Given the description of an element on the screen output the (x, y) to click on. 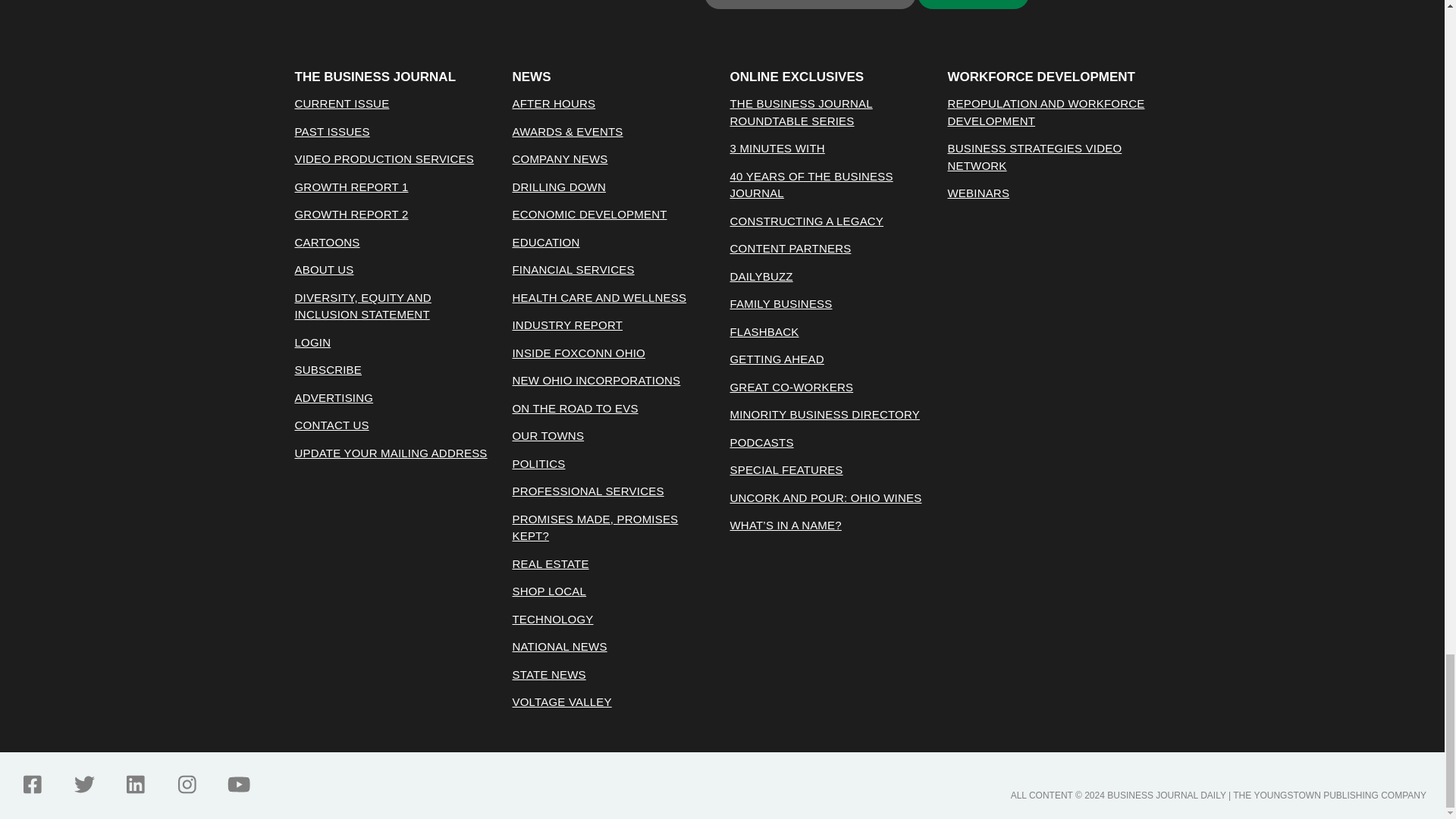
Twitter (84, 783)
YouTube (238, 783)
Sign Up (973, 4)
